Given the description of an element on the screen output the (x, y) to click on. 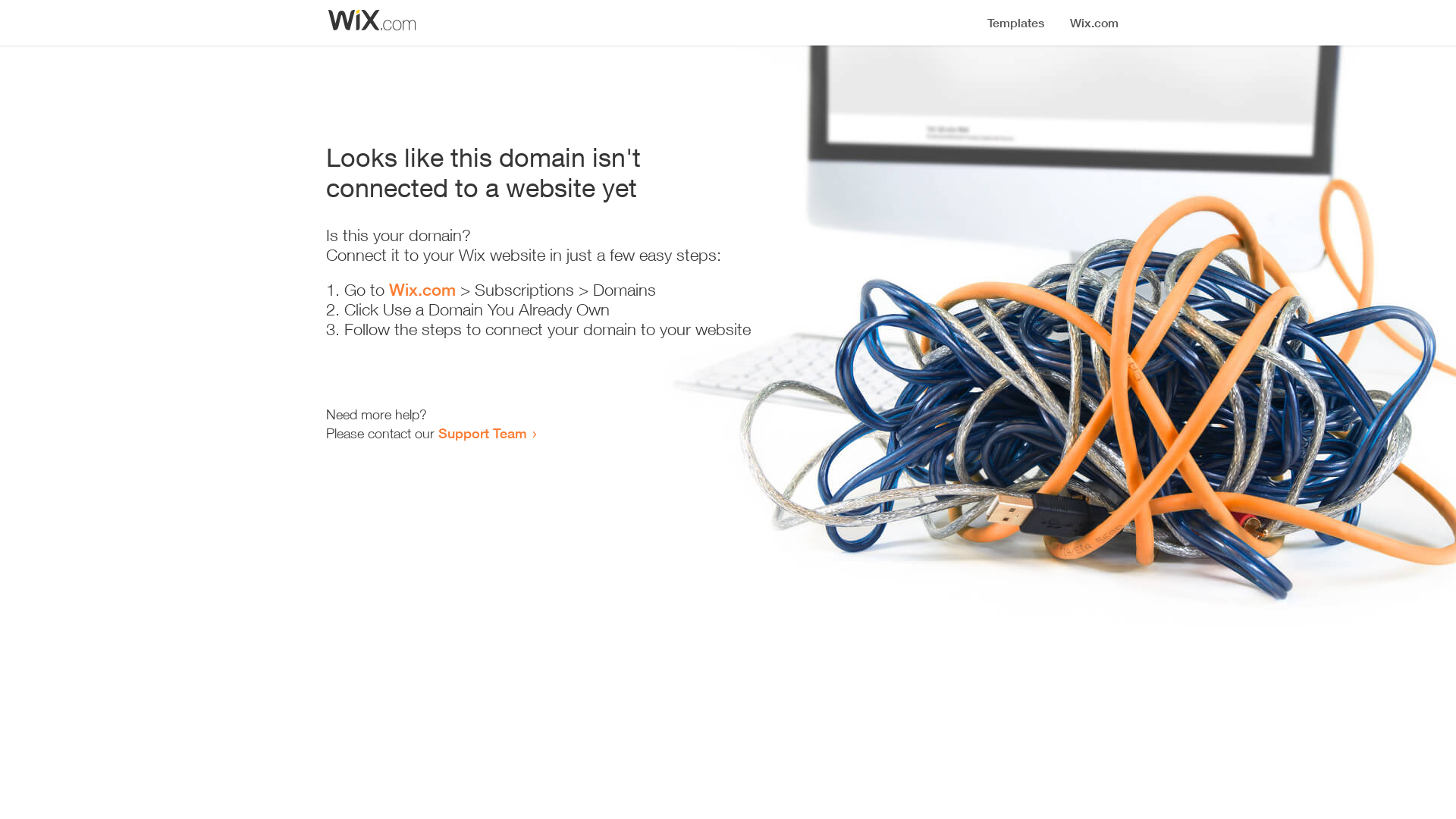
Wix.com Element type: text (422, 289)
Support Team Element type: text (482, 432)
